Given the description of an element on the screen output the (x, y) to click on. 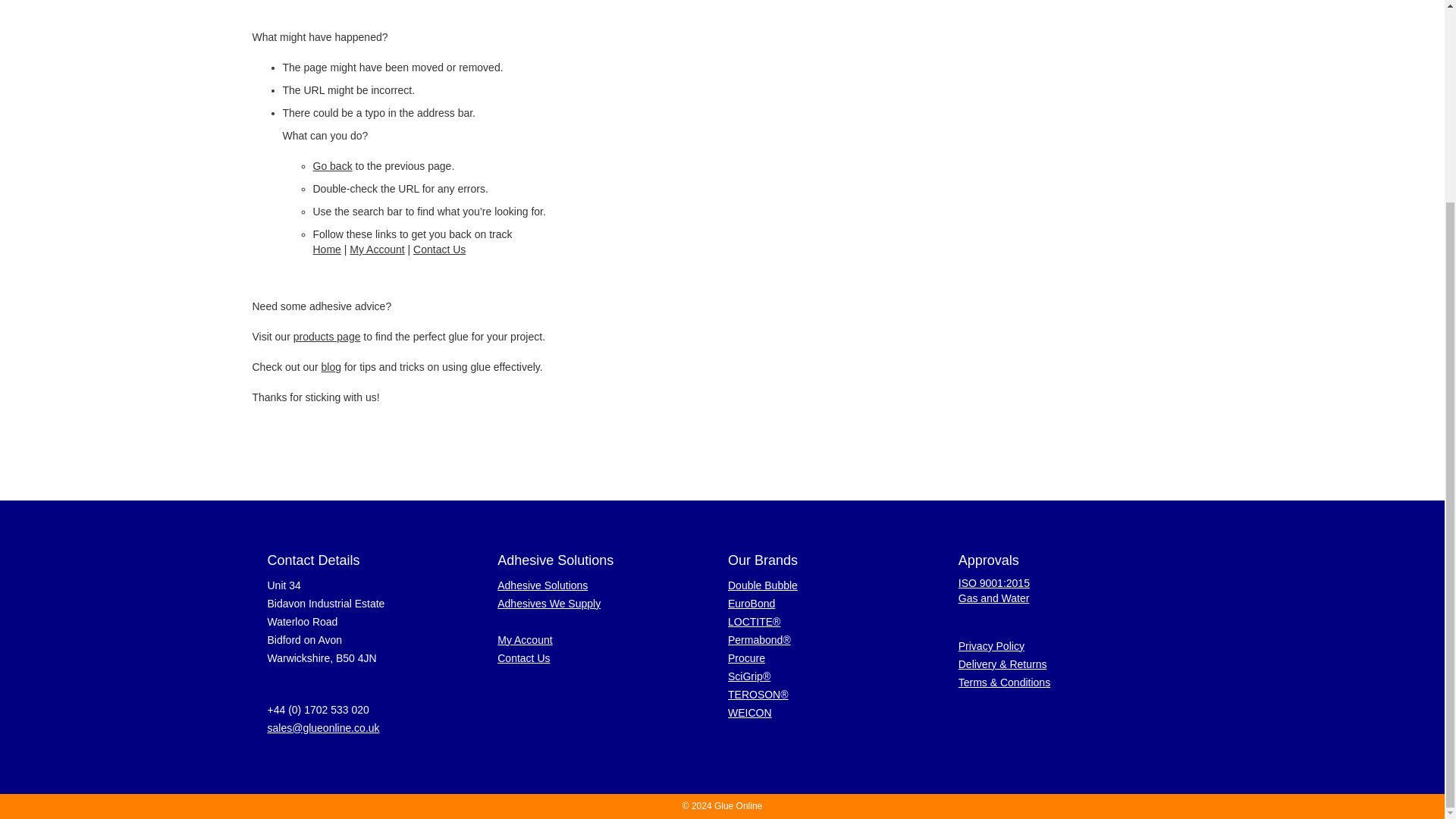
News (330, 367)
Privacy policy (991, 645)
Products Page (327, 336)
